Given the description of an element on the screen output the (x, y) to click on. 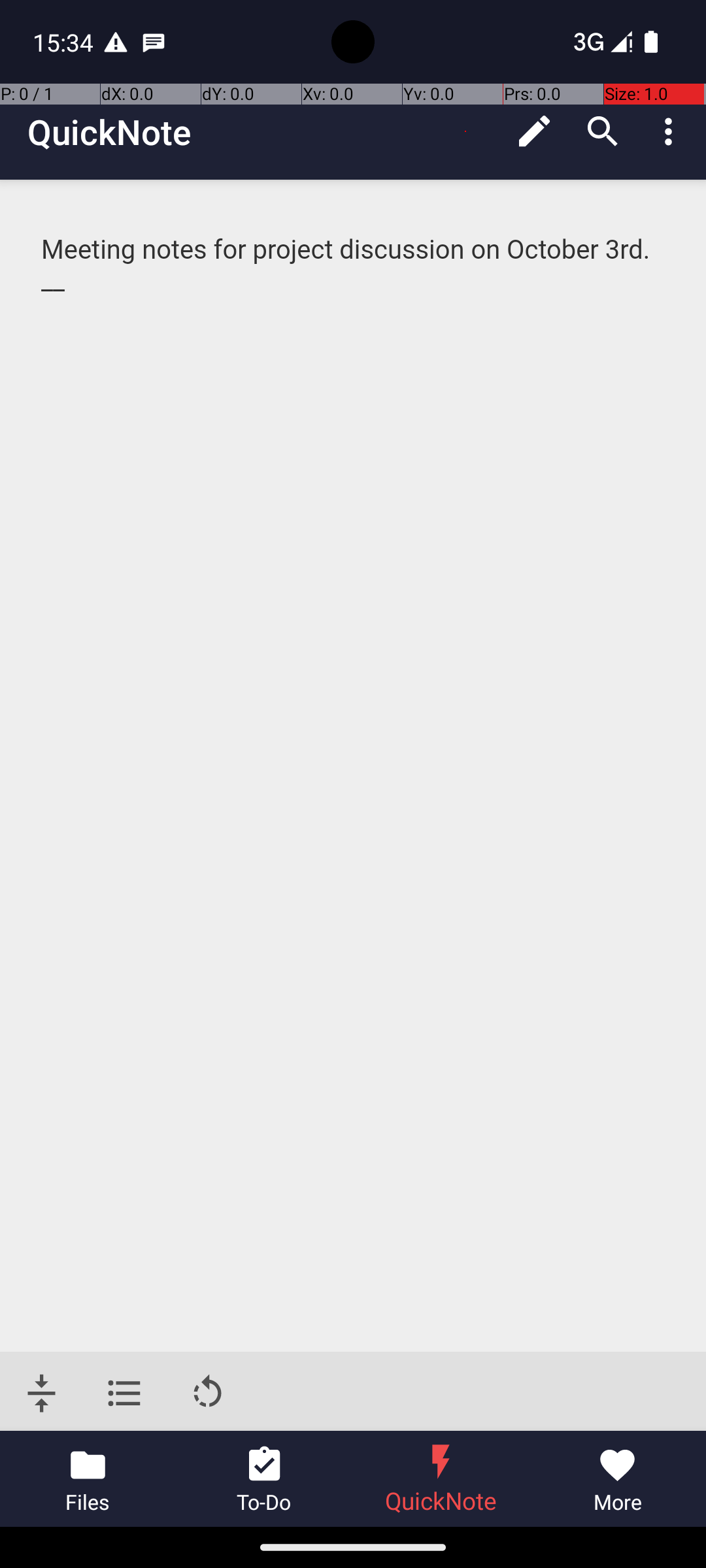
Edit mode Element type: android.widget.TextView (534, 131)
Jump to bottom Element type: android.widget.ImageView (41, 1392)
Table of contents Element type: android.widget.ImageView (124, 1392)
Rotate Element type: android.widget.ImageView (207, 1392)
Meeting notes for project discussion on October 3rd. __ Element type: android.widget.TextView (354, 264)
